Given the description of an element on the screen output the (x, y) to click on. 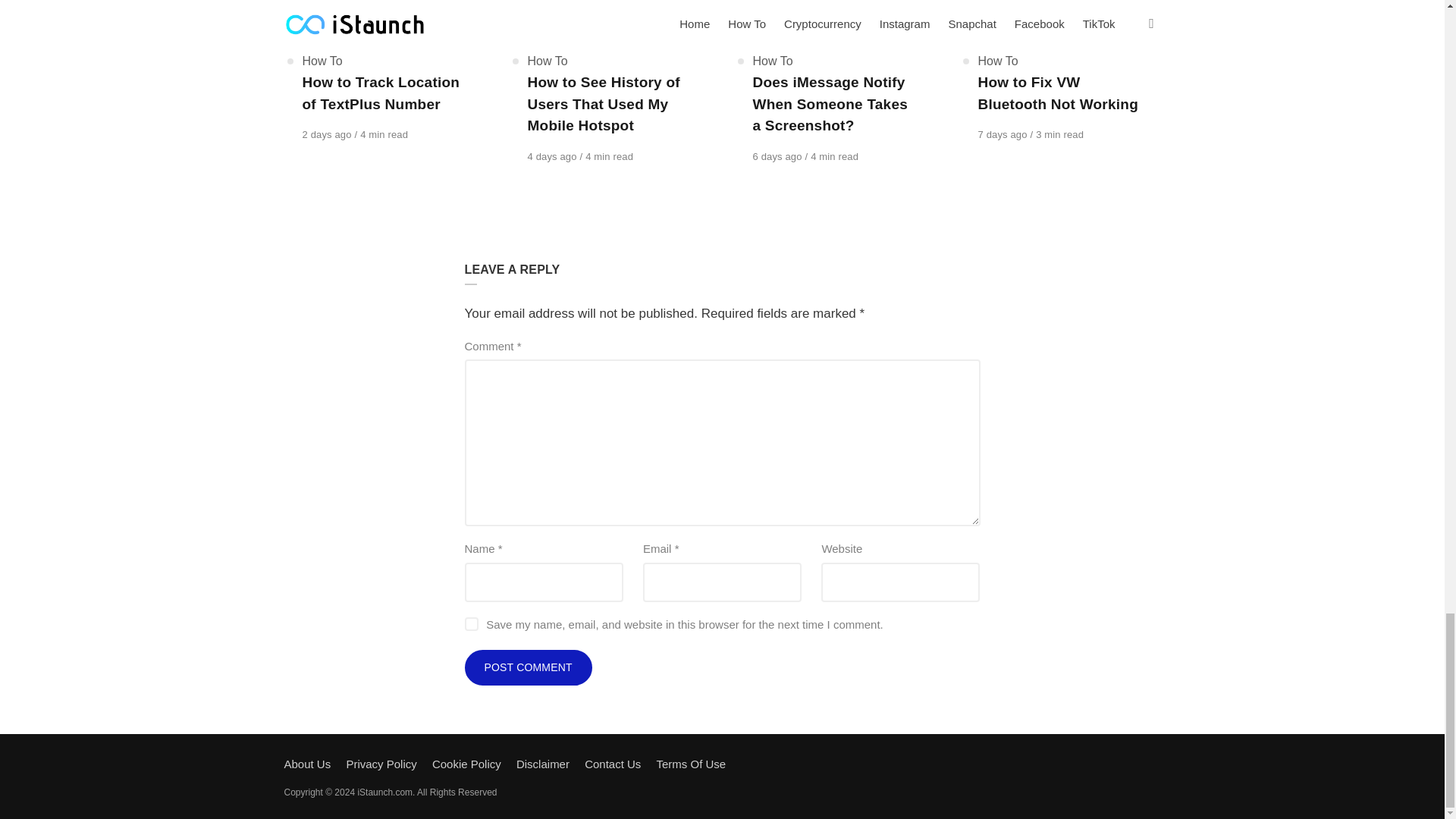
July 20, 2024 (1004, 134)
How To (547, 60)
July 22, 2024 (778, 156)
2 days ago (327, 134)
yes (470, 623)
Post Comment (527, 668)
July 25, 2024 (327, 134)
July 23, 2024 (553, 156)
How To (321, 60)
4 days ago (553, 156)
